Given the description of an element on the screen output the (x, y) to click on. 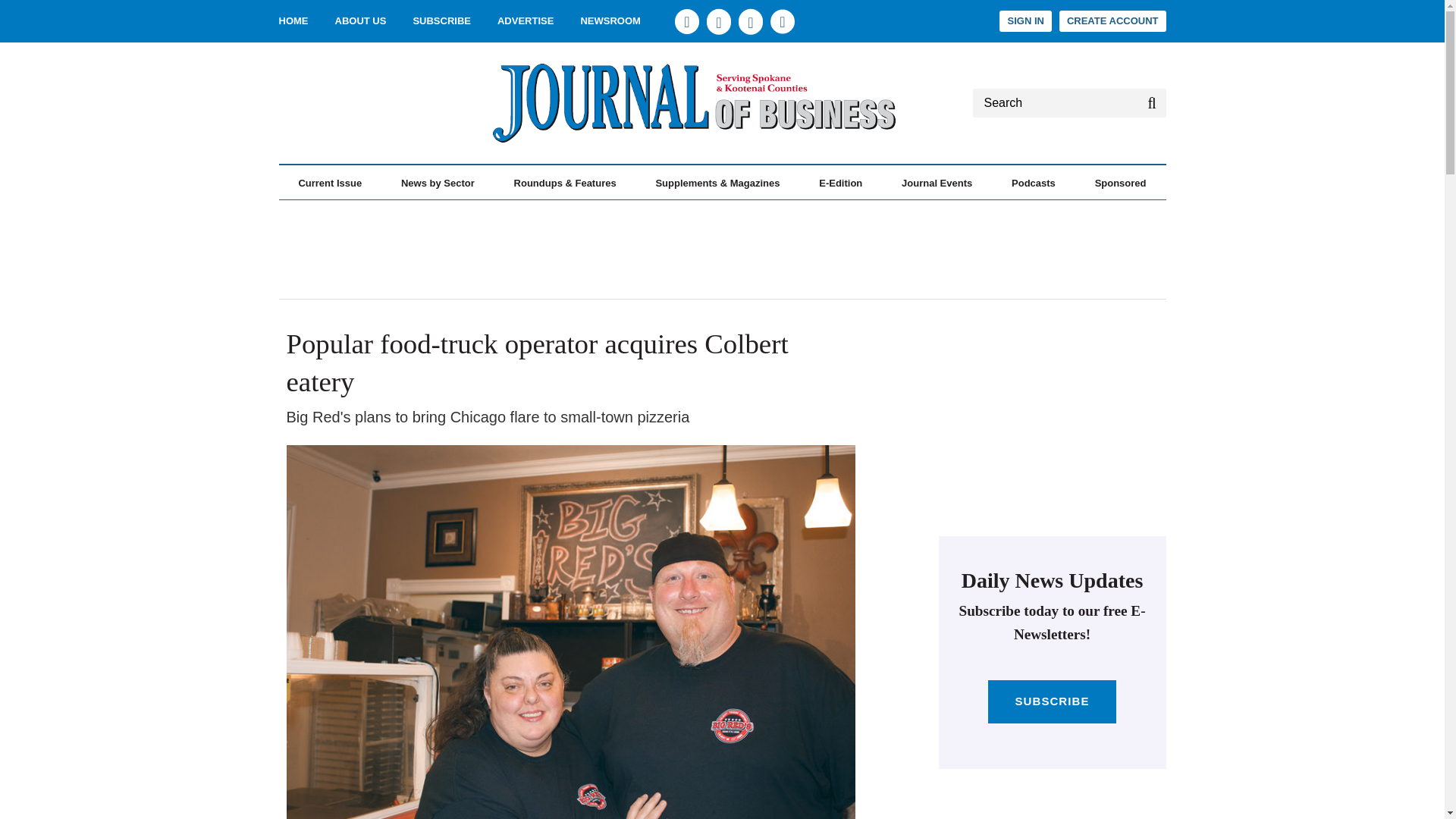
3rd party ad content (326, 103)
3rd party ad content (1052, 801)
3rd party ad content (1052, 425)
3rd party ad content (721, 249)
